Given the description of an element on the screen output the (x, y) to click on. 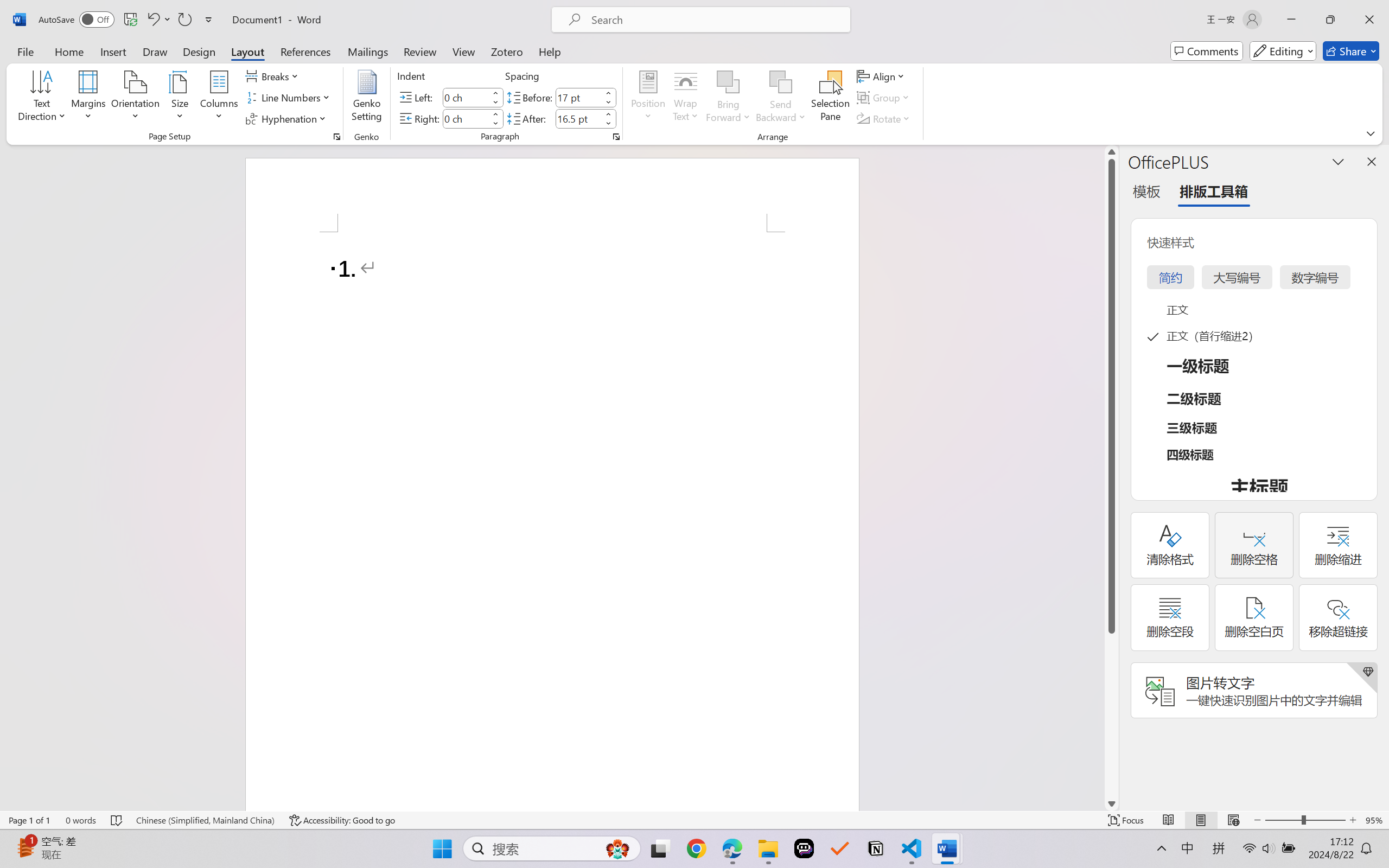
Line Numbers (289, 97)
Page 1 content (552, 521)
Line up (1111, 151)
Language Chinese (Simplified, Mainland China) (205, 819)
Repeat Doc Close (184, 19)
